Given the description of an element on the screen output the (x, y) to click on. 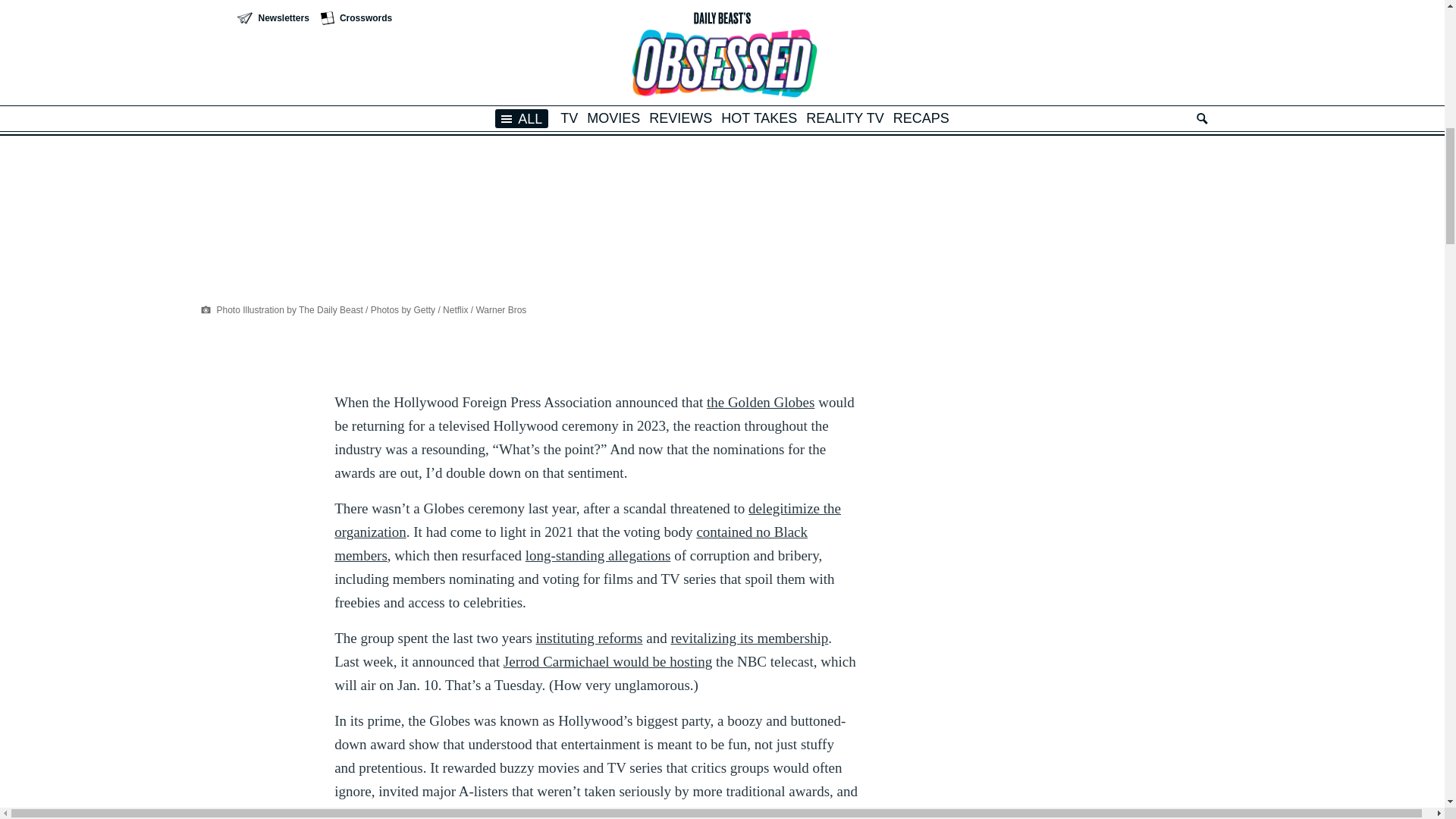
instituting reforms (589, 637)
revitalizing its membership (748, 637)
contained no Black members (571, 543)
long-standing allegations (598, 555)
the Golden Globes (759, 401)
delegitimize the organization (587, 519)
